Given the description of an element on the screen output the (x, y) to click on. 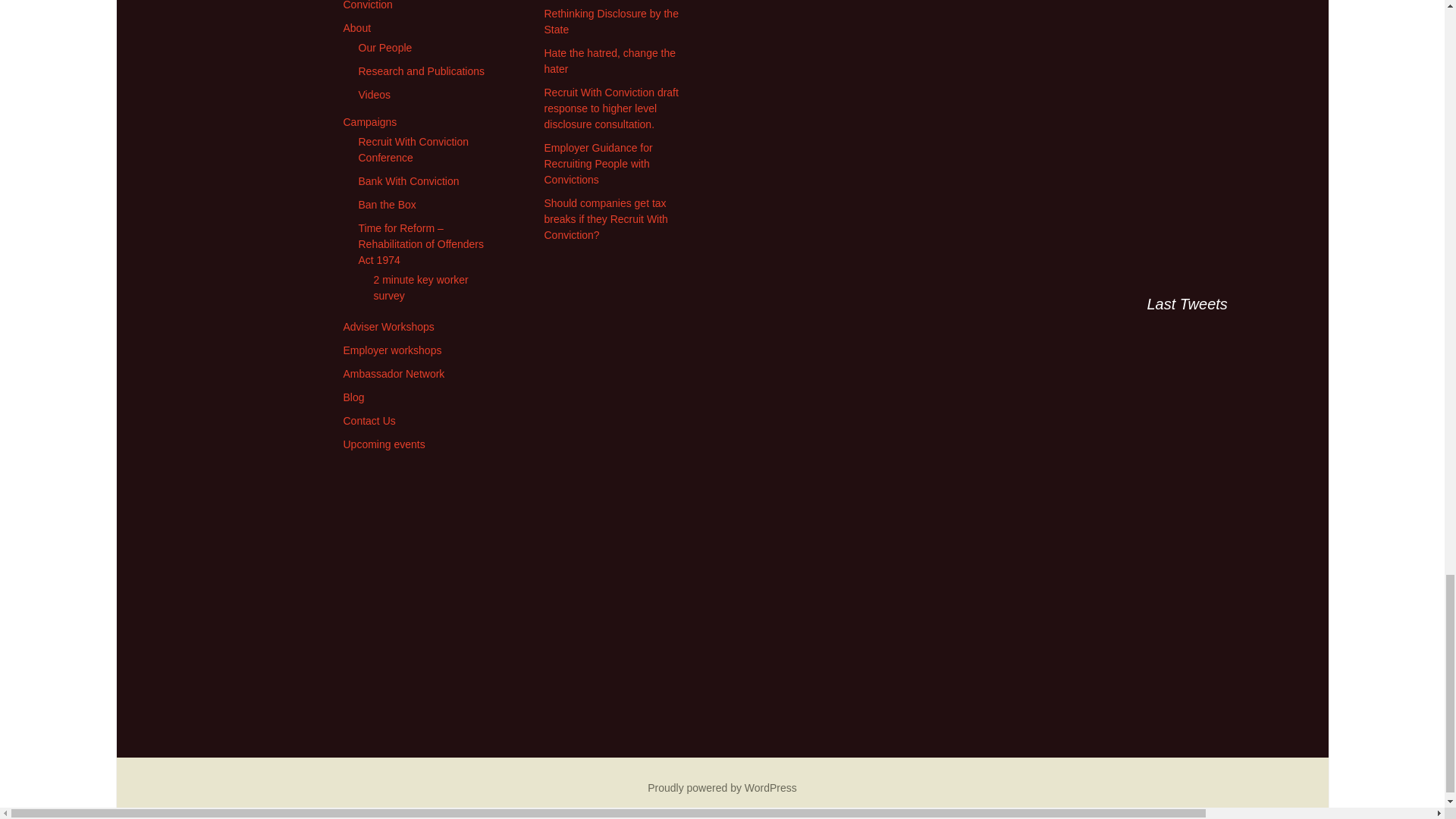
About (356, 28)
Research and Publications (421, 70)
Bank With Conviction (408, 181)
Videos (374, 94)
Ban the Box (386, 204)
Welcome to Recruit With Conviction (401, 5)
Campaigns (369, 121)
Recruit With Conviction Conference (413, 149)
Our People (385, 47)
